Given the description of an element on the screen output the (x, y) to click on. 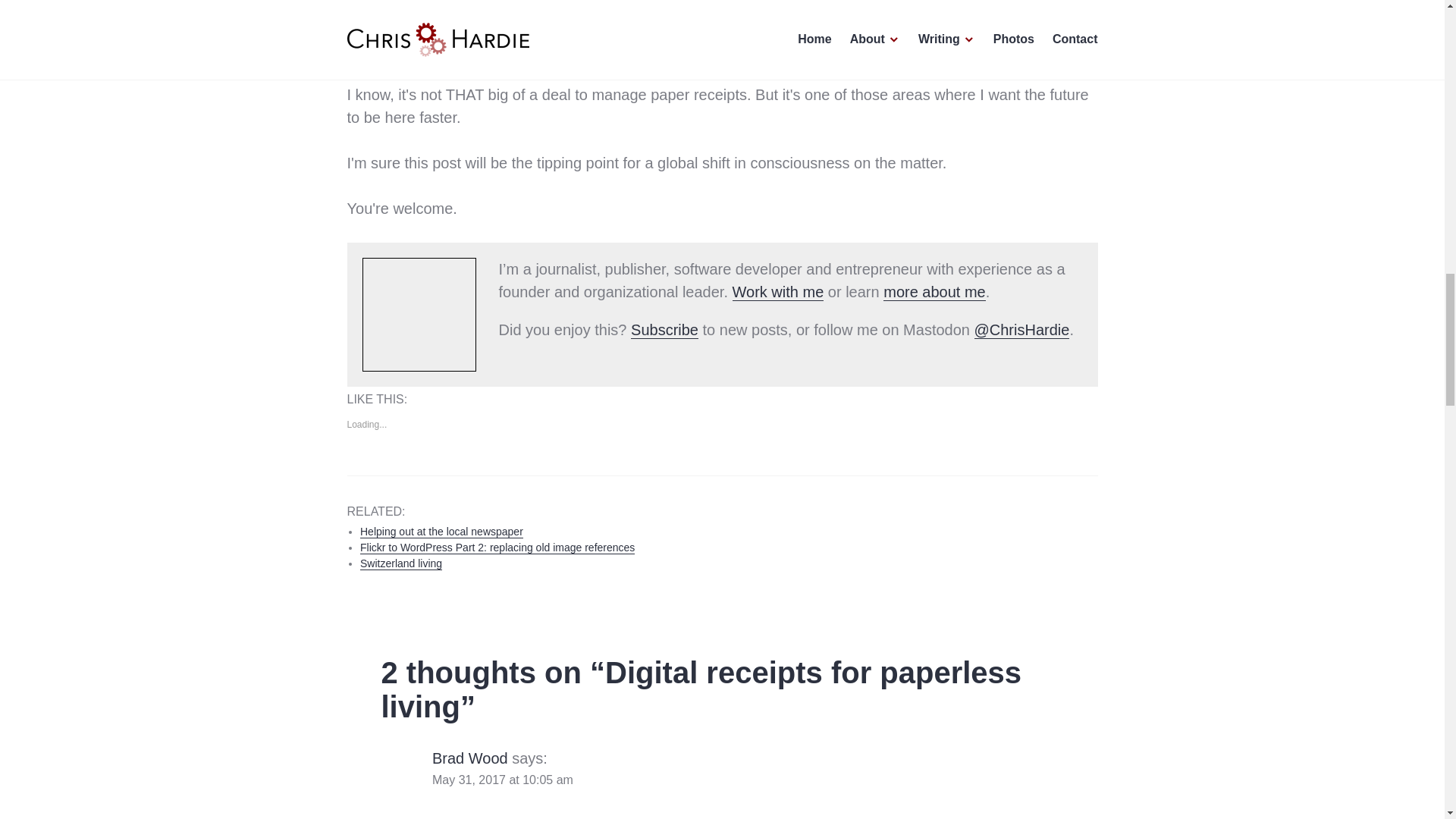
Switzerland living (400, 563)
Flickr to WordPress Part 2: replacing old image references (496, 547)
finance (367, 597)
Work with me (778, 291)
Subscribe (664, 329)
Brad Wood (470, 758)
May 31, 2017 at 10:05 am (502, 779)
Helping out at the local newspaper (440, 531)
more about me (934, 291)
